Given the description of an element on the screen output the (x, y) to click on. 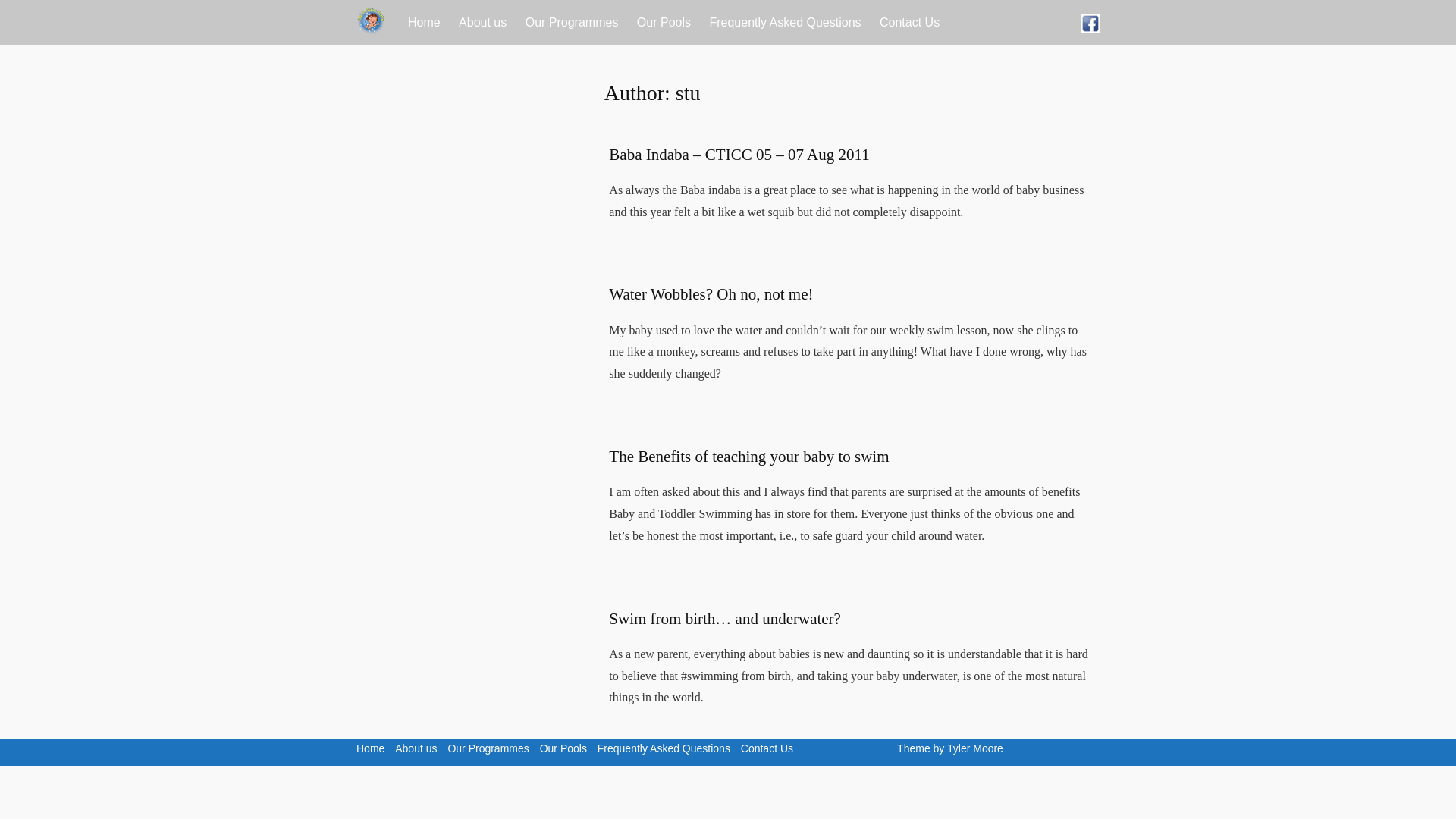
Frequently Asked Questions (663, 748)
Frequently Asked Questions (784, 22)
Our Pools (663, 22)
Follow Us on Facebook (1090, 22)
Home (370, 748)
Our Programmes (572, 22)
Water Wobbles? Oh no, not me! (710, 294)
Our Programmes (487, 748)
Contact Us (767, 748)
Our Pools (563, 748)
Tyler Moore (975, 748)
Home (424, 22)
About us (482, 22)
Contact Us (909, 22)
